Given the description of an element on the screen output the (x, y) to click on. 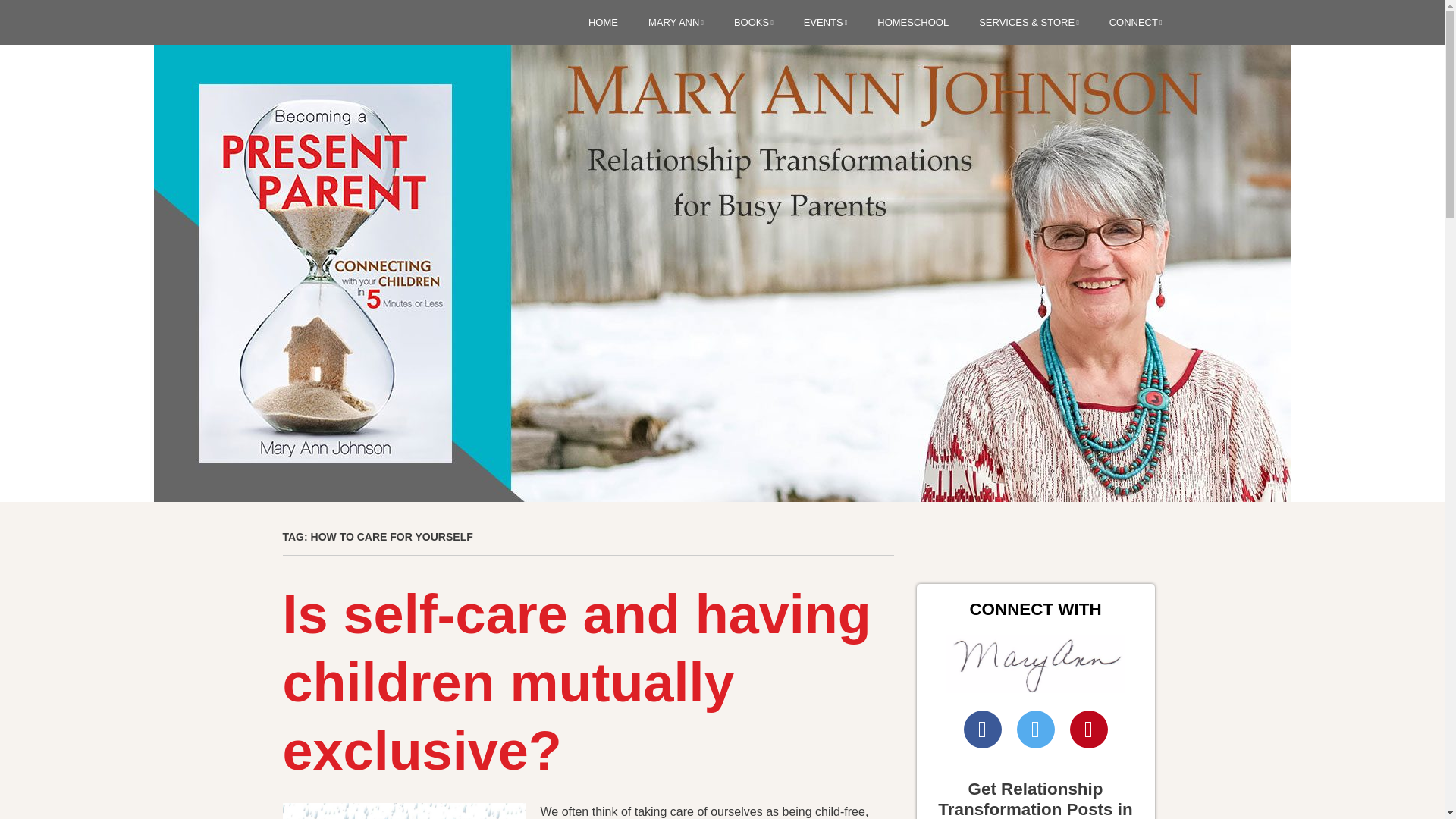
Is self-care and having children mutually exclusive? (576, 682)
HOMESCHOOL (913, 22)
HOME (602, 22)
Mary Ann Johnson (391, 85)
Skip to content (598, 24)
Skip to content (598, 24)
MARY ANN (675, 22)
BOOKS (753, 22)
CONNECT (1135, 22)
EVENTS (825, 22)
